Given the description of an element on the screen output the (x, y) to click on. 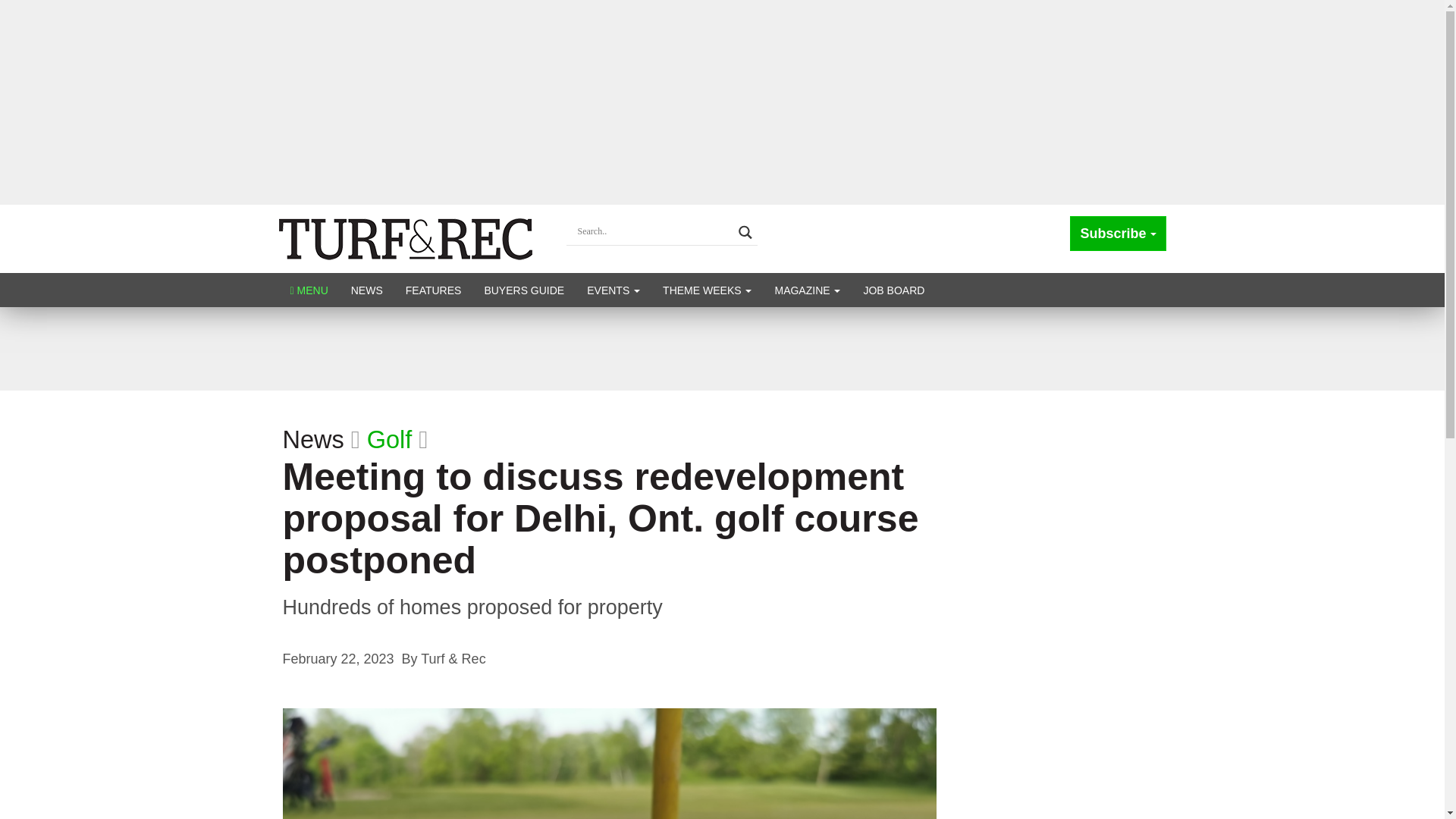
Click to show site navigation (309, 289)
BUYERS GUIDE (523, 289)
MAGAZINE (806, 289)
Subscribe (1118, 233)
NEWS (366, 289)
3rd party ad content (721, 348)
JOB BOARD (893, 289)
THEME WEEKS (706, 289)
FEATURES (433, 289)
